Given the description of an element on the screen output the (x, y) to click on. 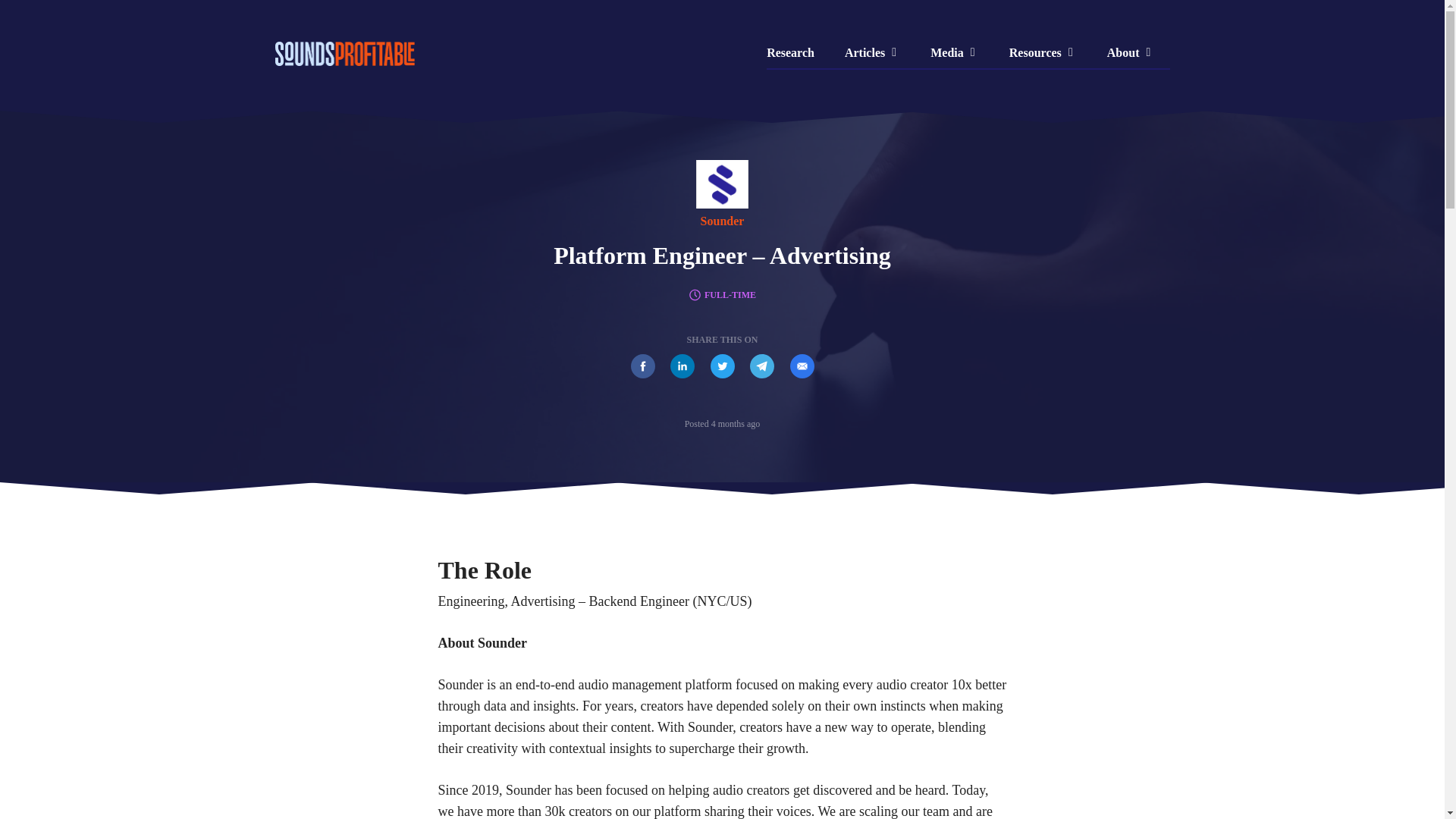
Sounder (722, 221)
Resources (1043, 52)
About (1131, 52)
Articles (872, 52)
Media (954, 52)
Research (798, 52)
